Given the description of an element on the screen output the (x, y) to click on. 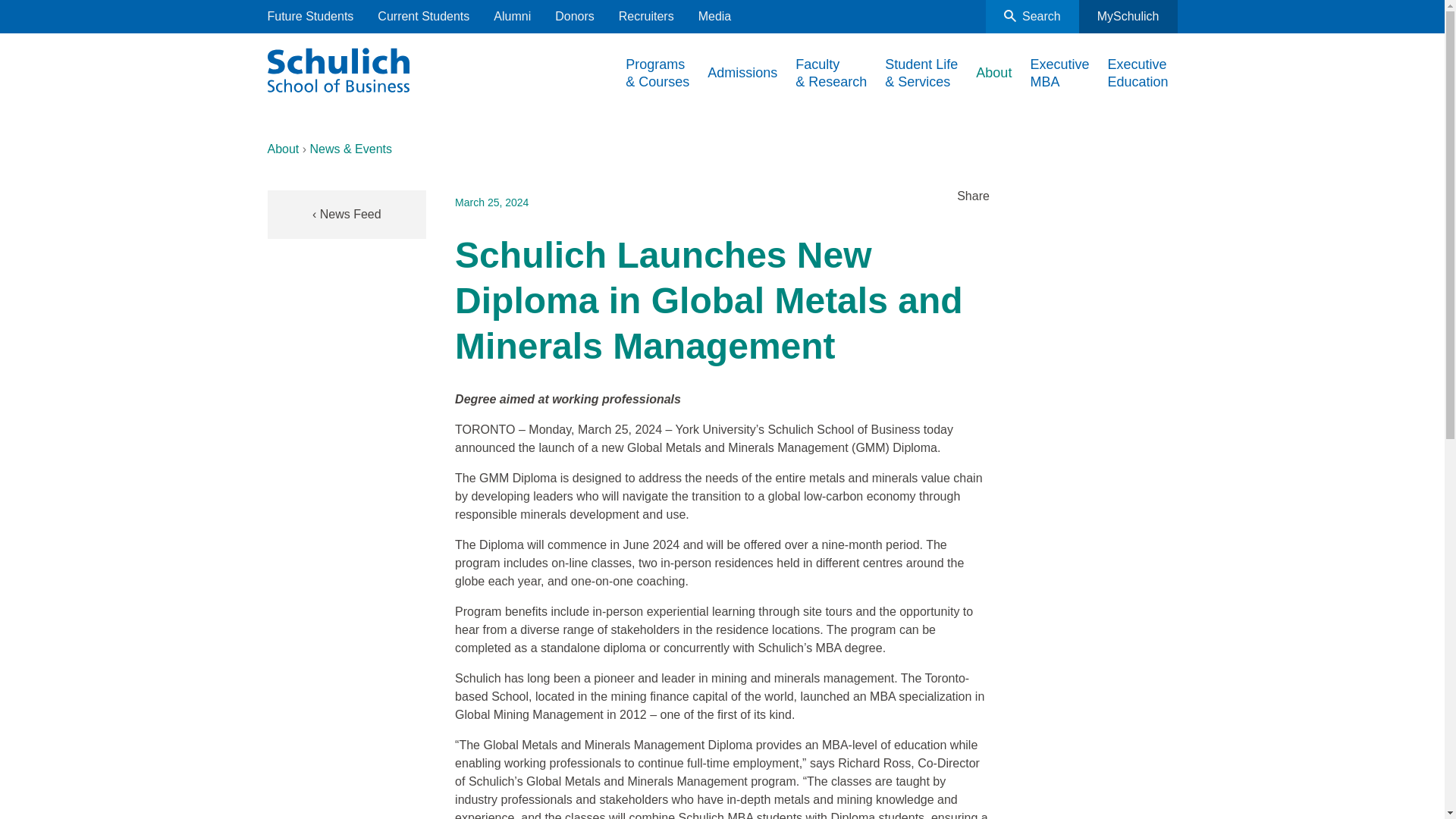
Future Students (309, 16)
Current Students (422, 16)
Donors (574, 16)
Alumni (512, 16)
Return to the homepage (337, 67)
